Given the description of an element on the screen output the (x, y) to click on. 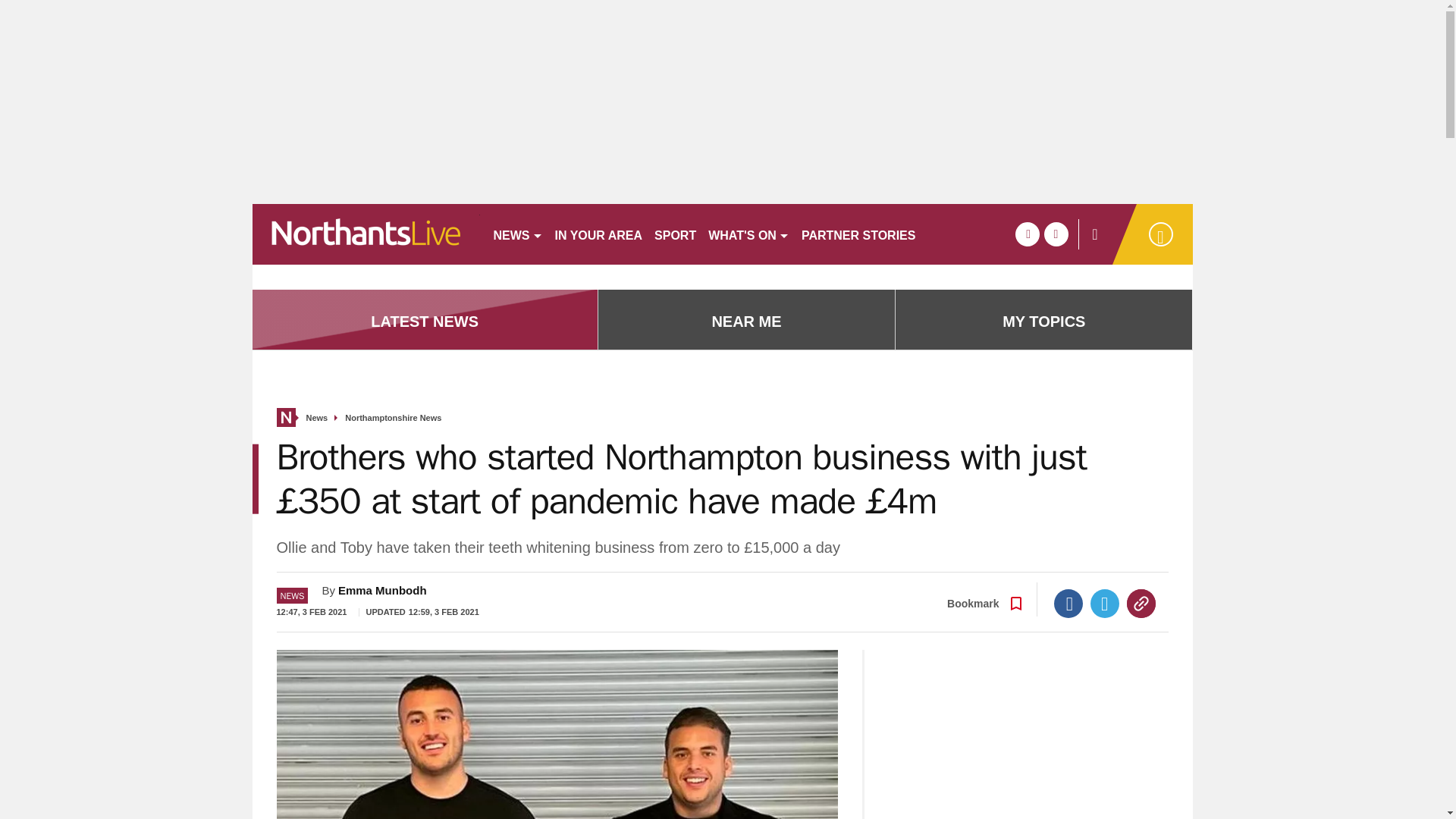
northantslive (365, 233)
facebook (1026, 233)
NEWS (517, 233)
PARTNER STORIES (857, 233)
Twitter (1104, 603)
Home (285, 416)
News (317, 418)
WHAT'S ON (747, 233)
Facebook (1068, 603)
Northamptonshire News (393, 418)
MY TOPICS (1043, 320)
NEAR ME (746, 320)
IN YOUR AREA (598, 233)
twitter (1055, 233)
